Given the description of an element on the screen output the (x, y) to click on. 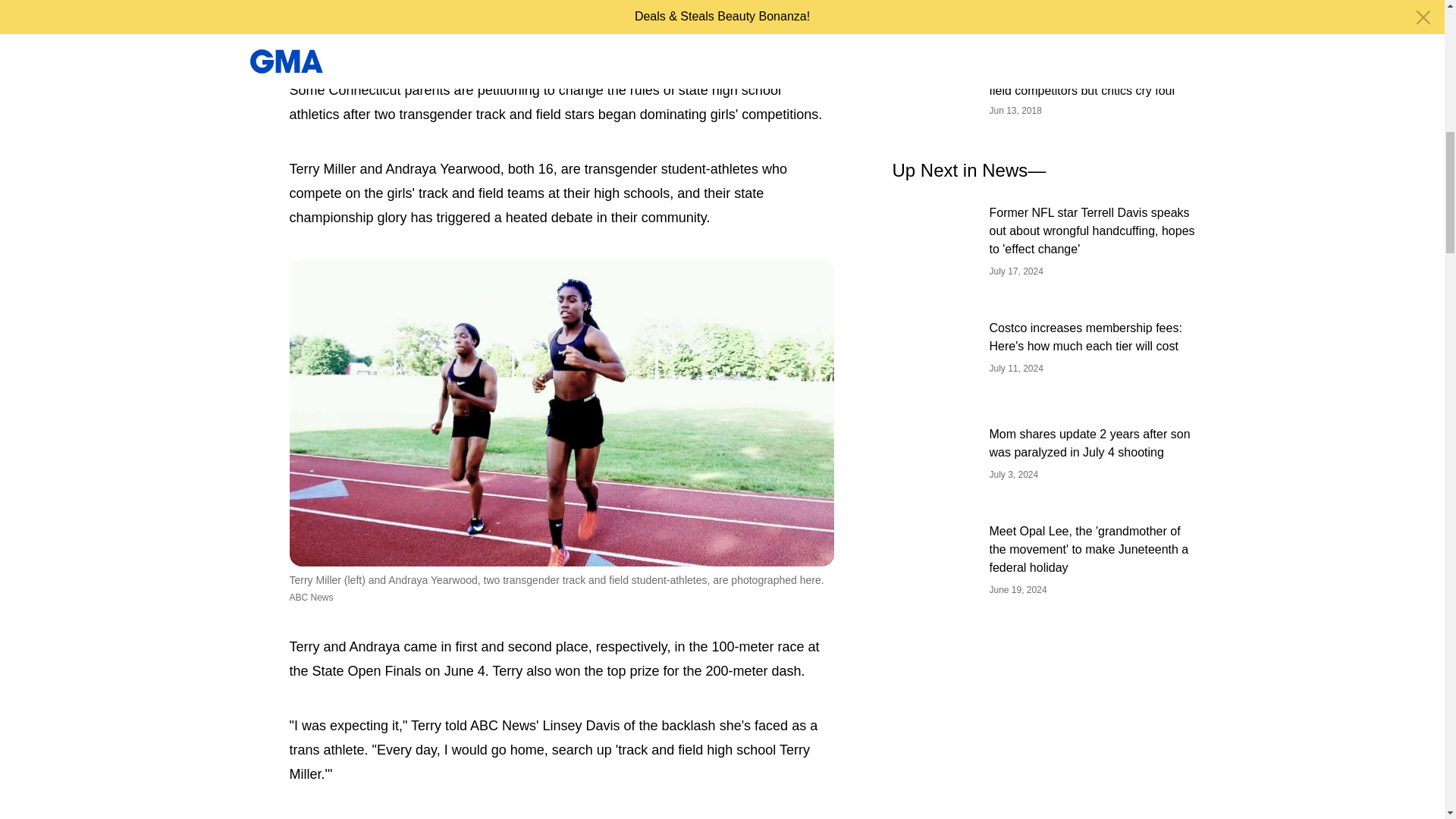
Catherine Thorbecke (393, 13)
